Given the description of an element on the screen output the (x, y) to click on. 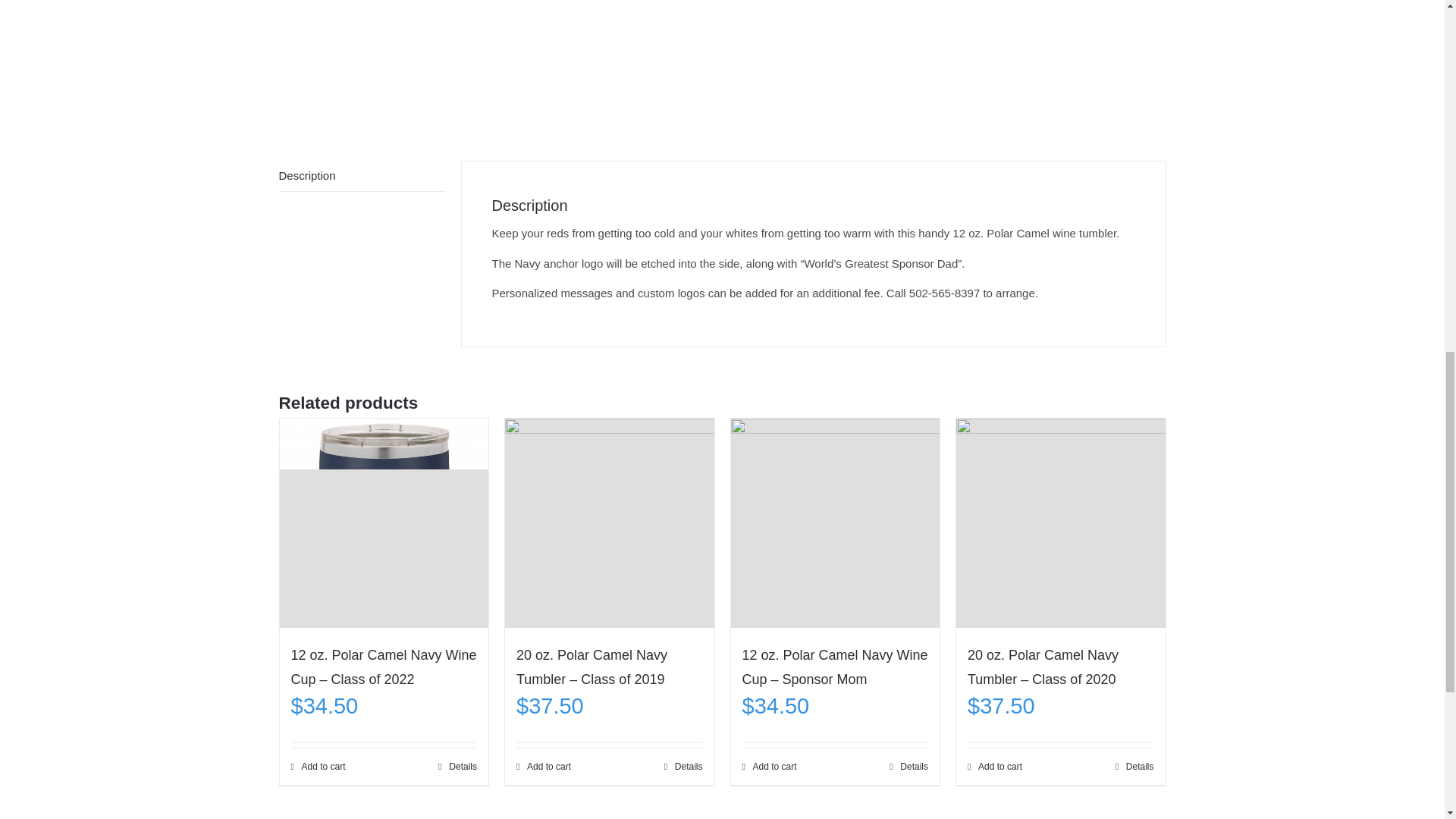
Add to cart (543, 766)
Details (908, 766)
Details (1134, 766)
Details (457, 766)
Add to cart (318, 766)
Add to cart (768, 766)
Details (683, 766)
Add to cart (995, 766)
Description (362, 175)
